Given the description of an element on the screen output the (x, y) to click on. 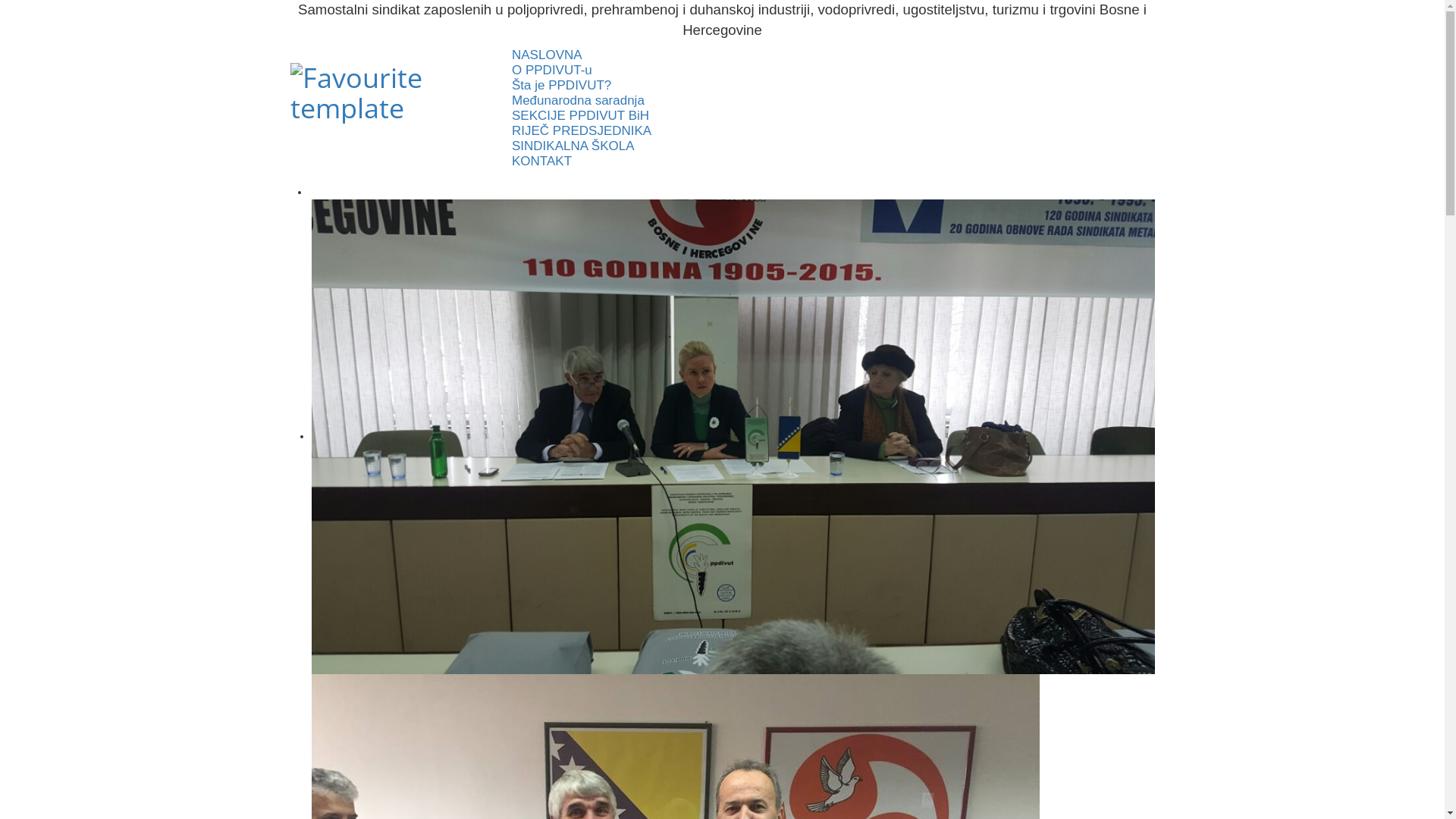
NASLOVNA Element type: text (832, 54)
KONTAKT Element type: text (832, 161)
O PPDIVUT-u Element type: text (832, 70)
SEKCIJE PPDIVUT BiH Element type: text (580, 115)
